Given the description of an element on the screen output the (x, y) to click on. 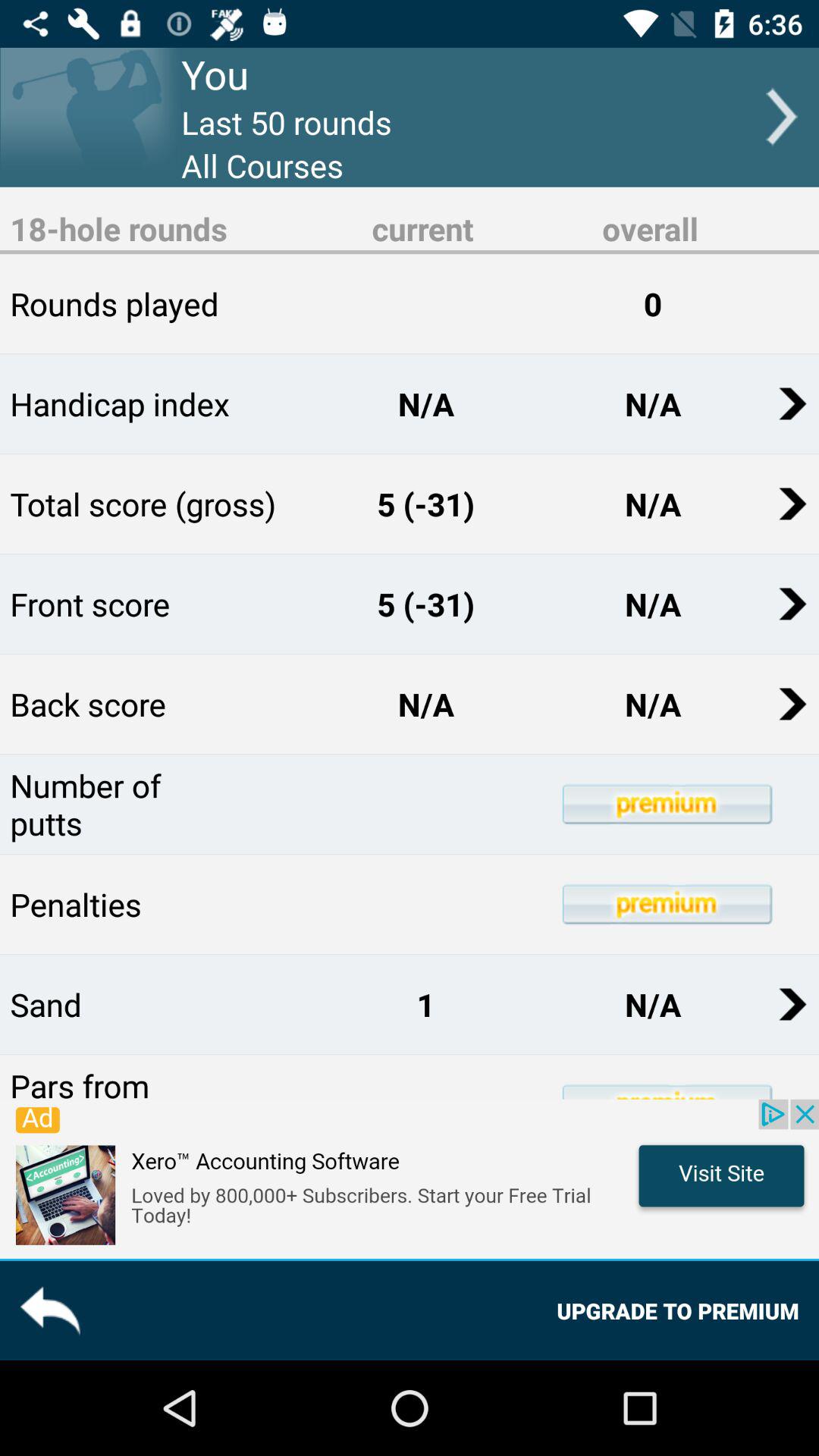
go back (49, 1310)
